Given the description of an element on the screen output the (x, y) to click on. 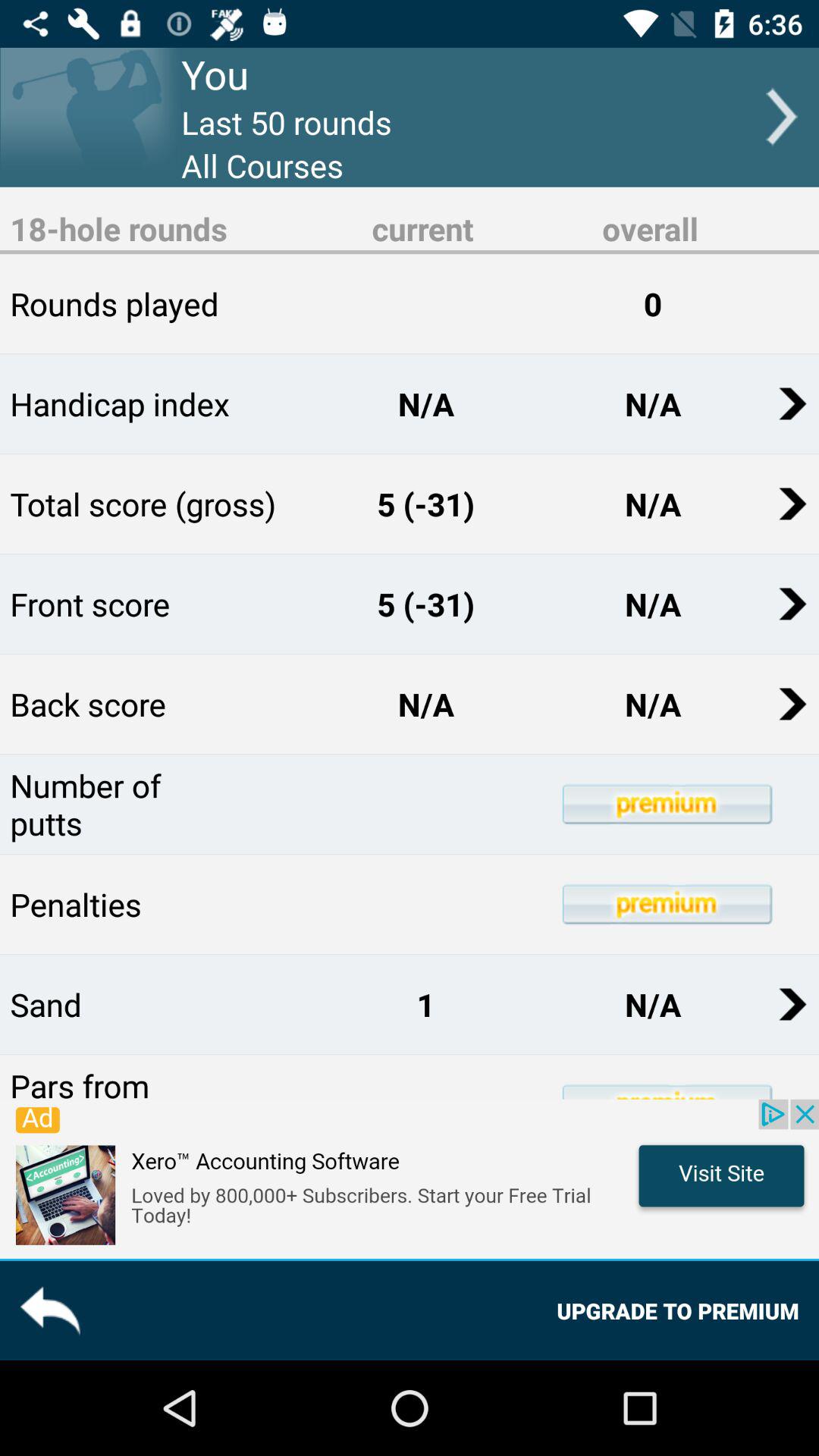
go back (49, 1310)
